Given the description of an element on the screen output the (x, y) to click on. 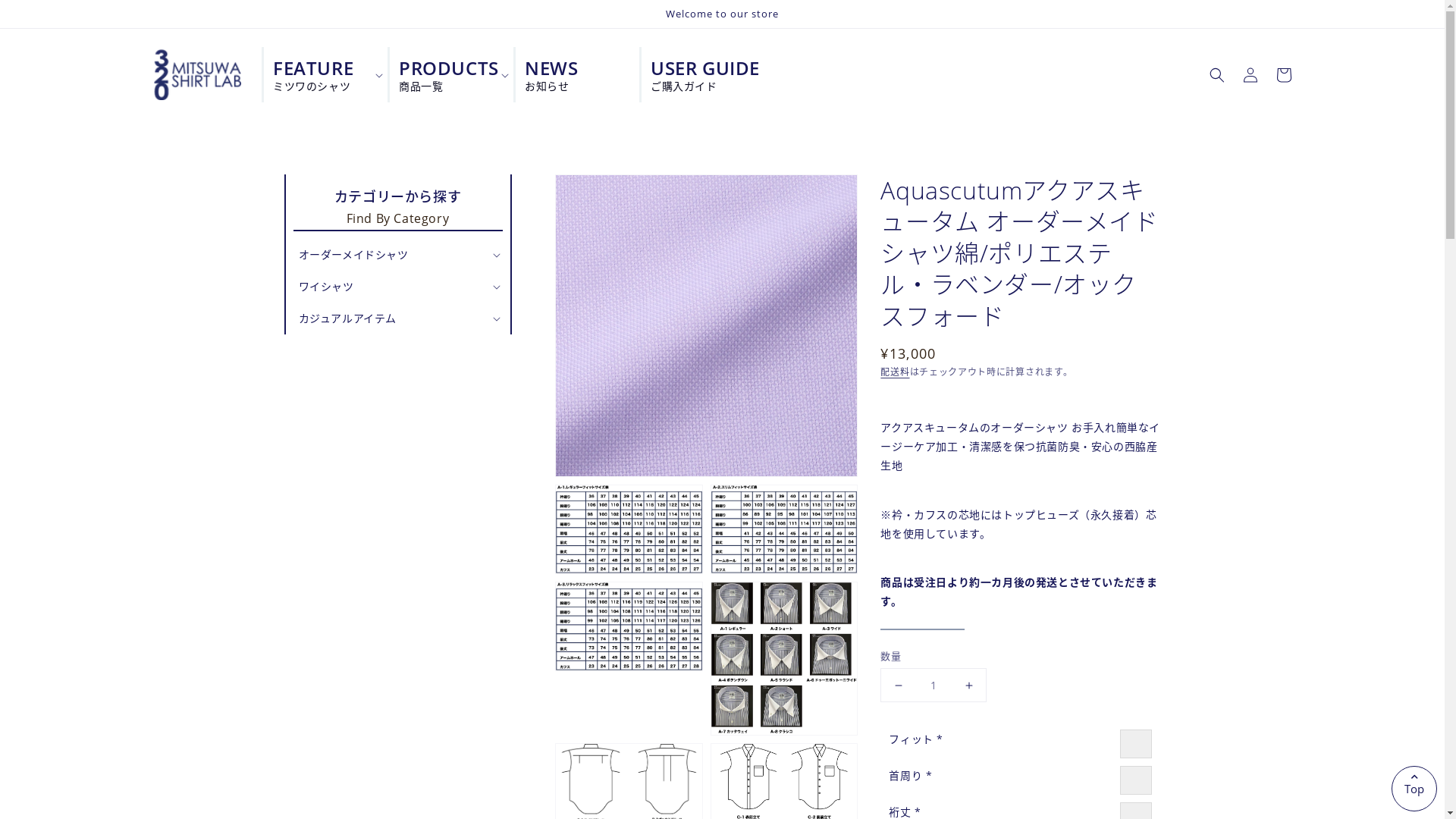
Top Element type: text (1414, 788)
USER GUIDE Element type: text (697, 74)
NEWS Element type: text (571, 74)
